Given the description of an element on the screen output the (x, y) to click on. 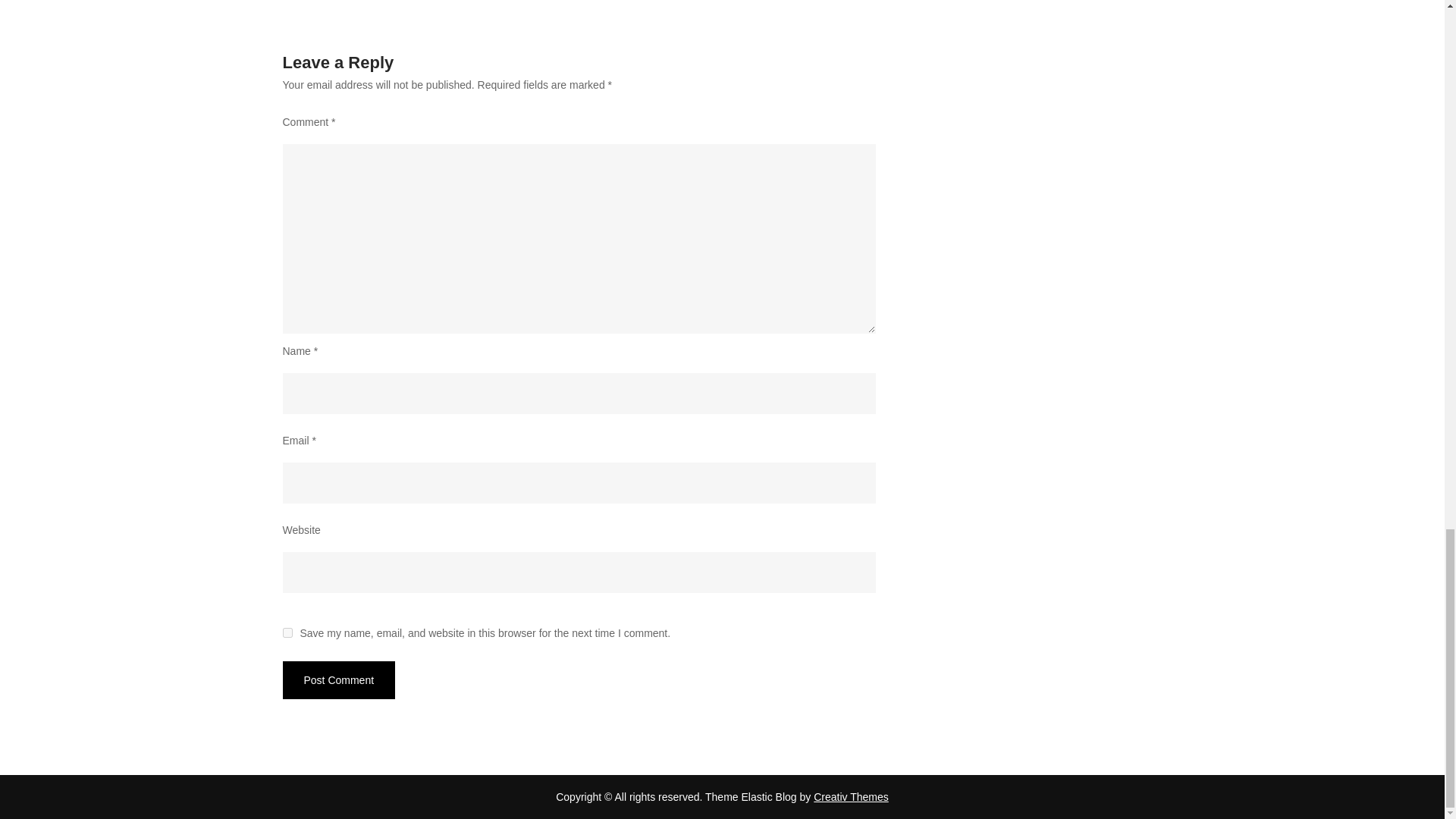
Post Comment (338, 679)
Post Comment (338, 679)
yes (287, 633)
